Given the description of an element on the screen output the (x, y) to click on. 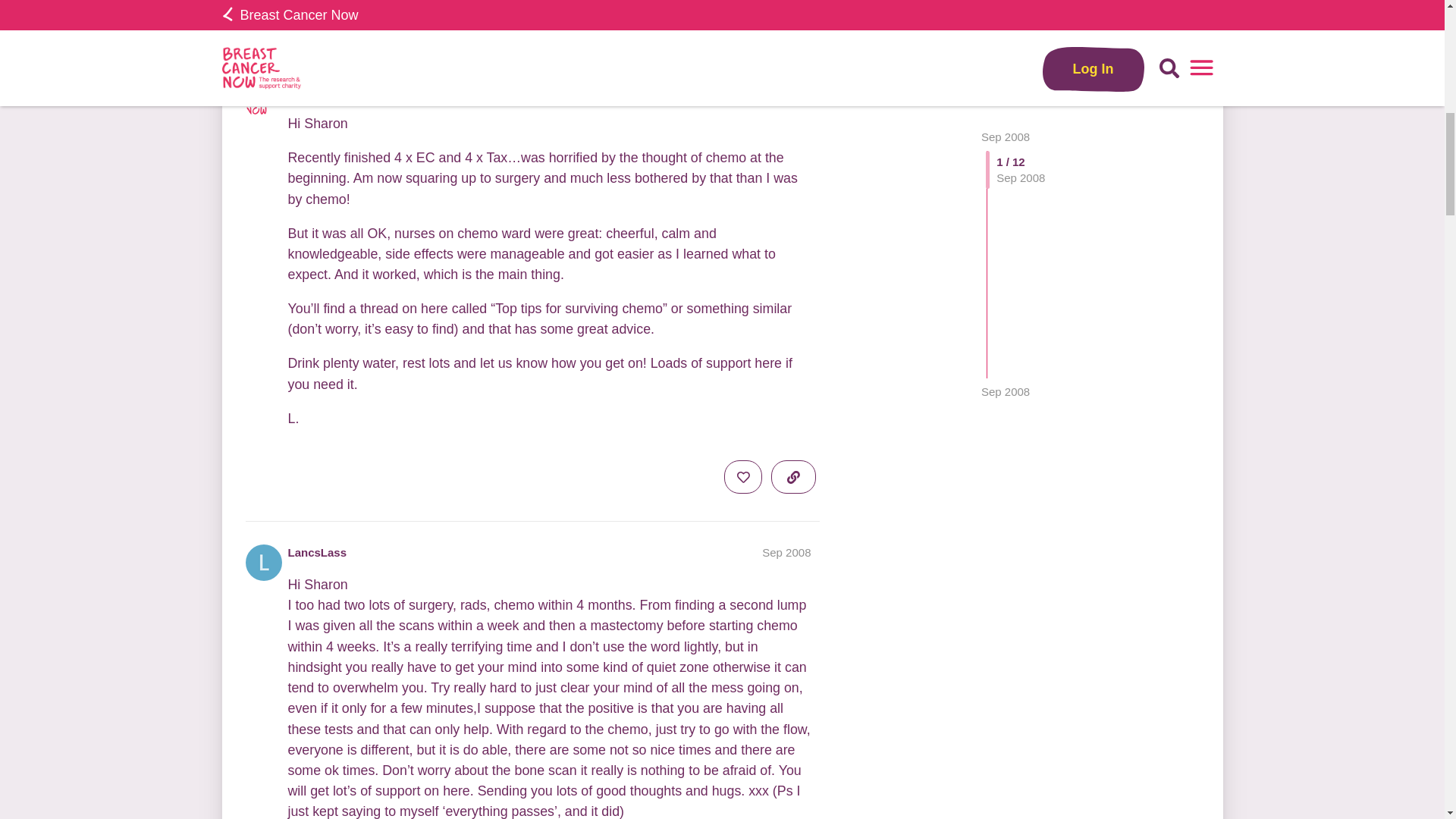
system (564, 22)
last reply (416, 11)
system (562, 22)
LancsLass (317, 552)
expand topic details (793, 22)
Lily200 (389, 30)
22 Sep 2008 04:22 (427, 29)
Sep 2008 (1005, 20)
20 Sep 2008 06:32 (341, 29)
2 (592, 22)
5 (564, 22)
Sep 2008 (785, 552)
system (304, 30)
system (307, 91)
Sep 2008 (785, 91)
